Given the description of an element on the screen output the (x, y) to click on. 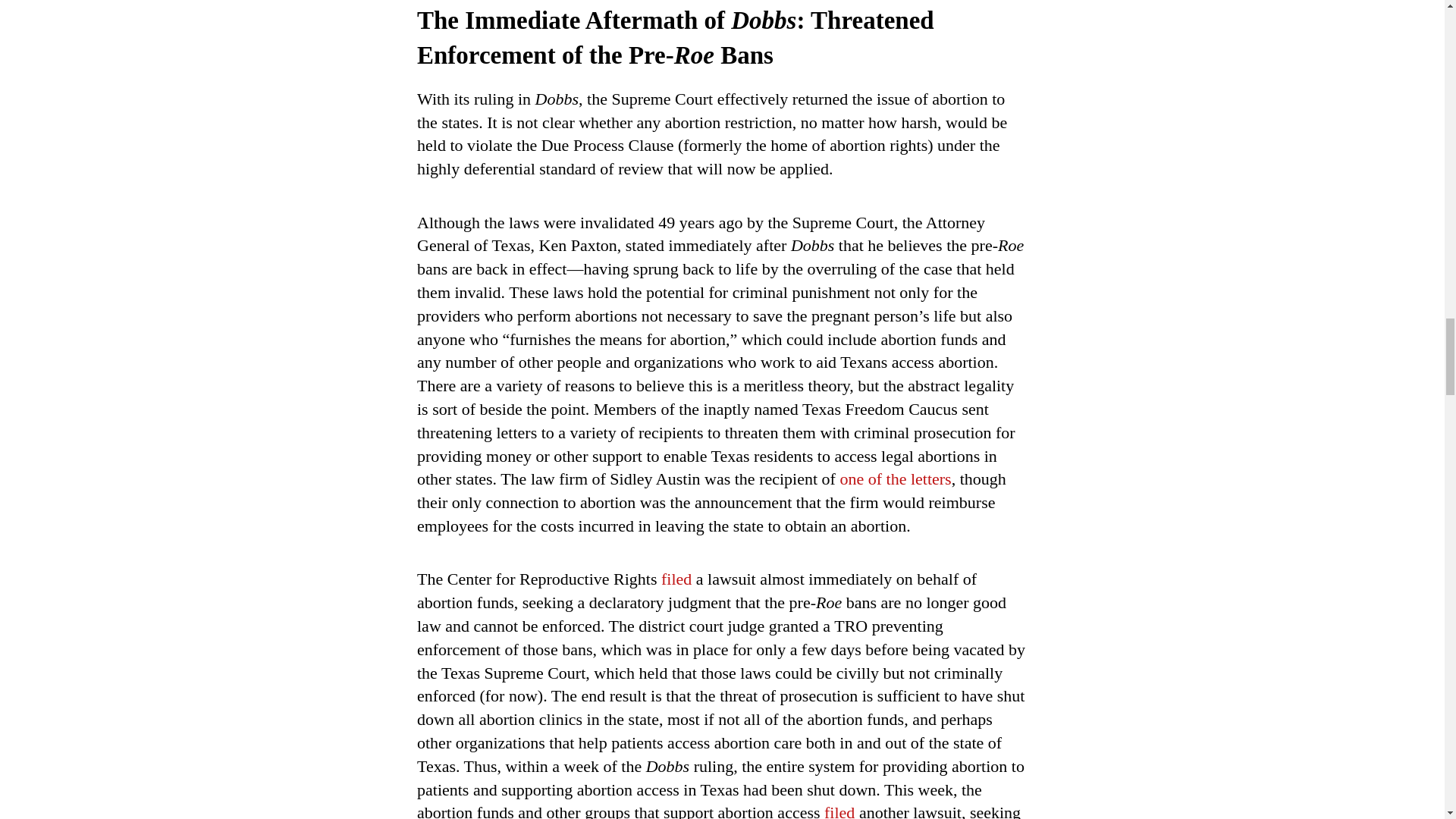
one of the letters (895, 478)
filed (839, 811)
filed (676, 578)
